Given the description of an element on the screen output the (x, y) to click on. 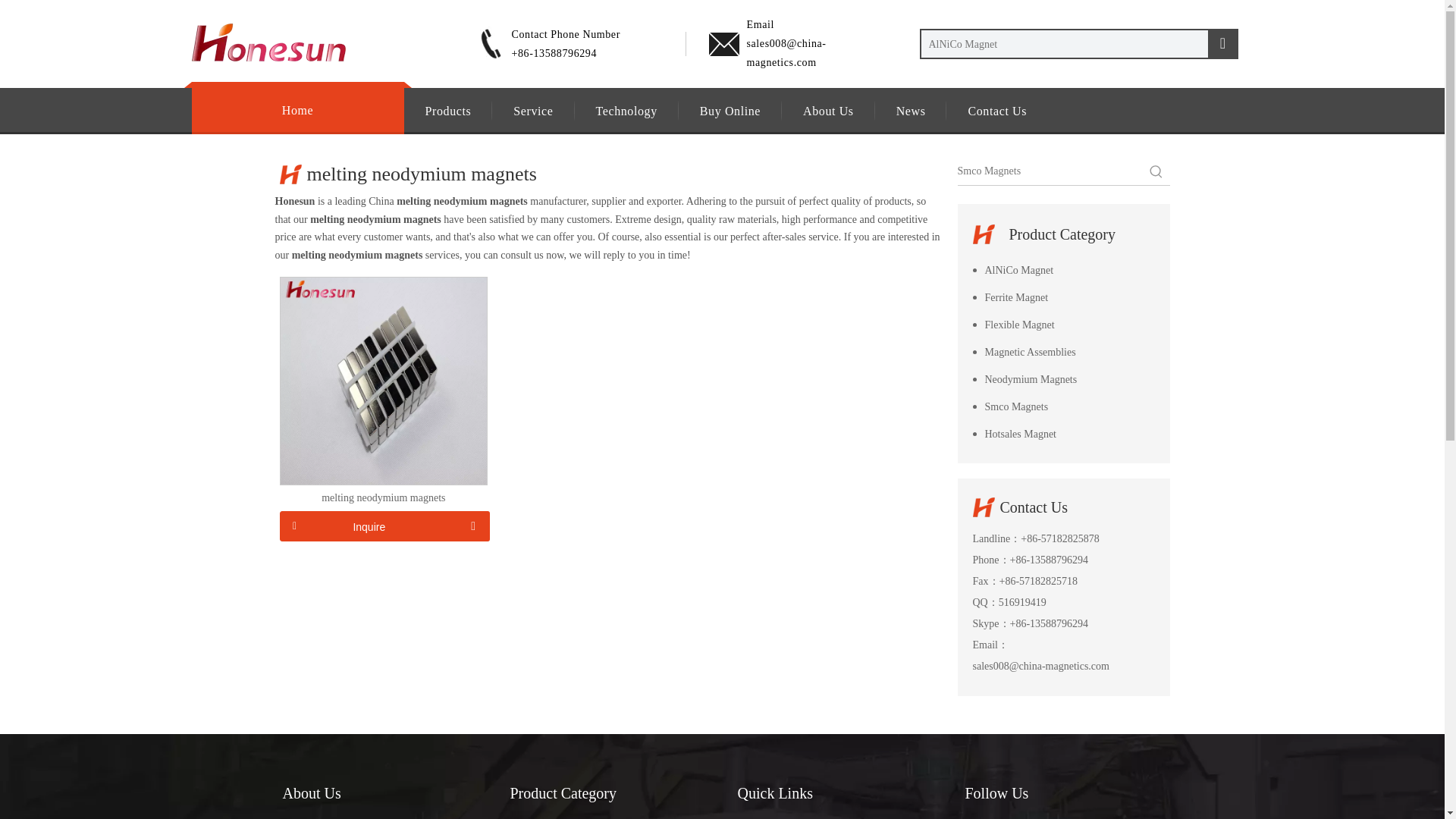
Products (447, 111)
Smco Magnets (1063, 406)
Neodymium Magnets (1063, 379)
AlNiCo Magnet (1063, 270)
Ferrite Magnet (1063, 298)
melting neodymium magnets (383, 498)
melting neodymium magnets (384, 379)
Technology (626, 111)
Smco Magnets (1063, 406)
Neodymium Magnets (1063, 379)
Hotsales Magnet (1063, 433)
Flexible Magnet (1063, 325)
Magnetic Assemblies (1063, 352)
AlNiCo Magnet (1063, 270)
Ferrite Magnet (1063, 298)
